Given the description of an element on the screen output the (x, y) to click on. 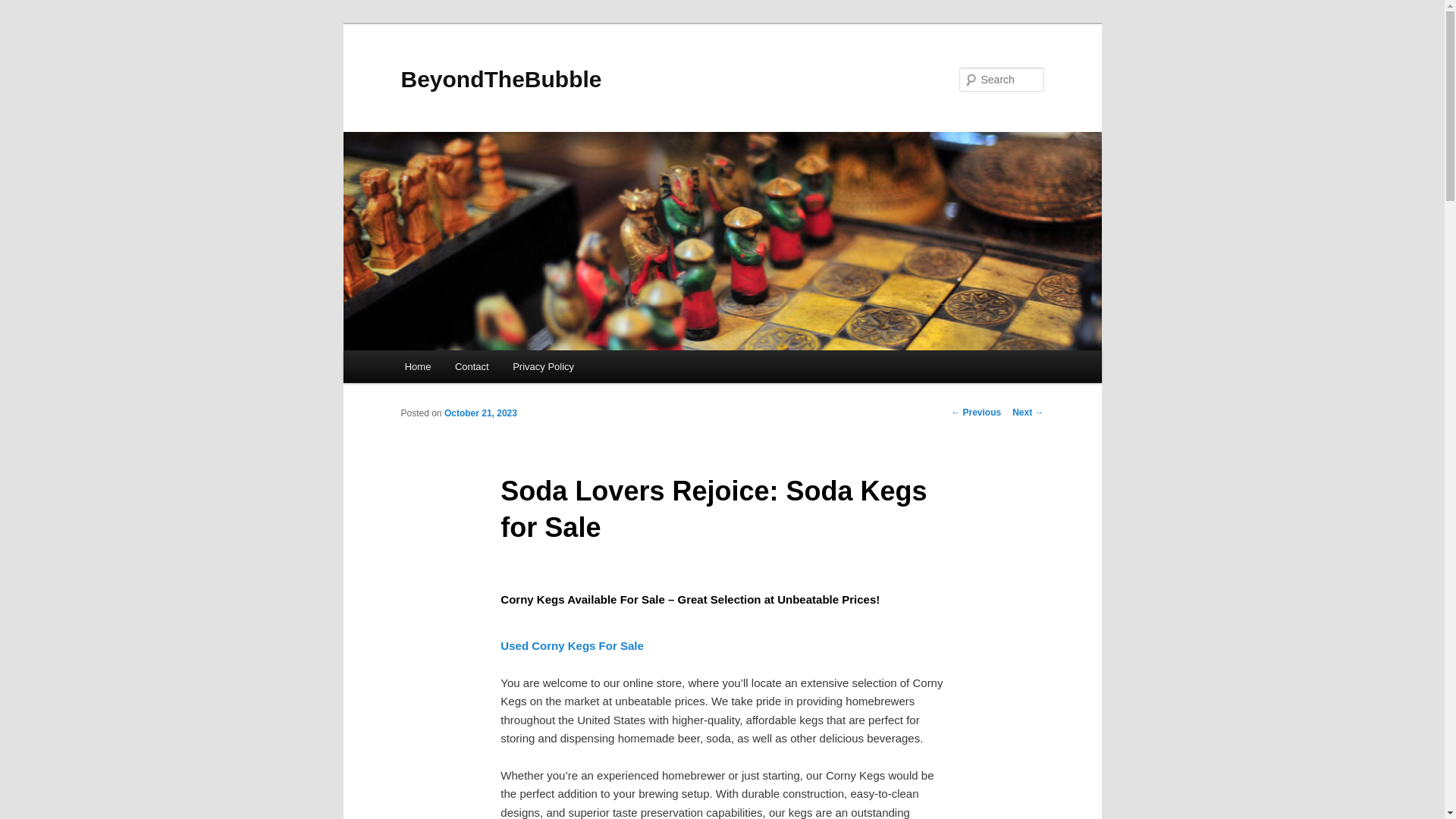
Privacy Policy (542, 366)
12:26 am (480, 412)
Used Corny Kegs For Sale (571, 645)
October 21, 2023 (480, 412)
Contact (471, 366)
Search (24, 8)
BeyondTheBubble (500, 78)
Home (417, 366)
